Given the description of an element on the screen output the (x, y) to click on. 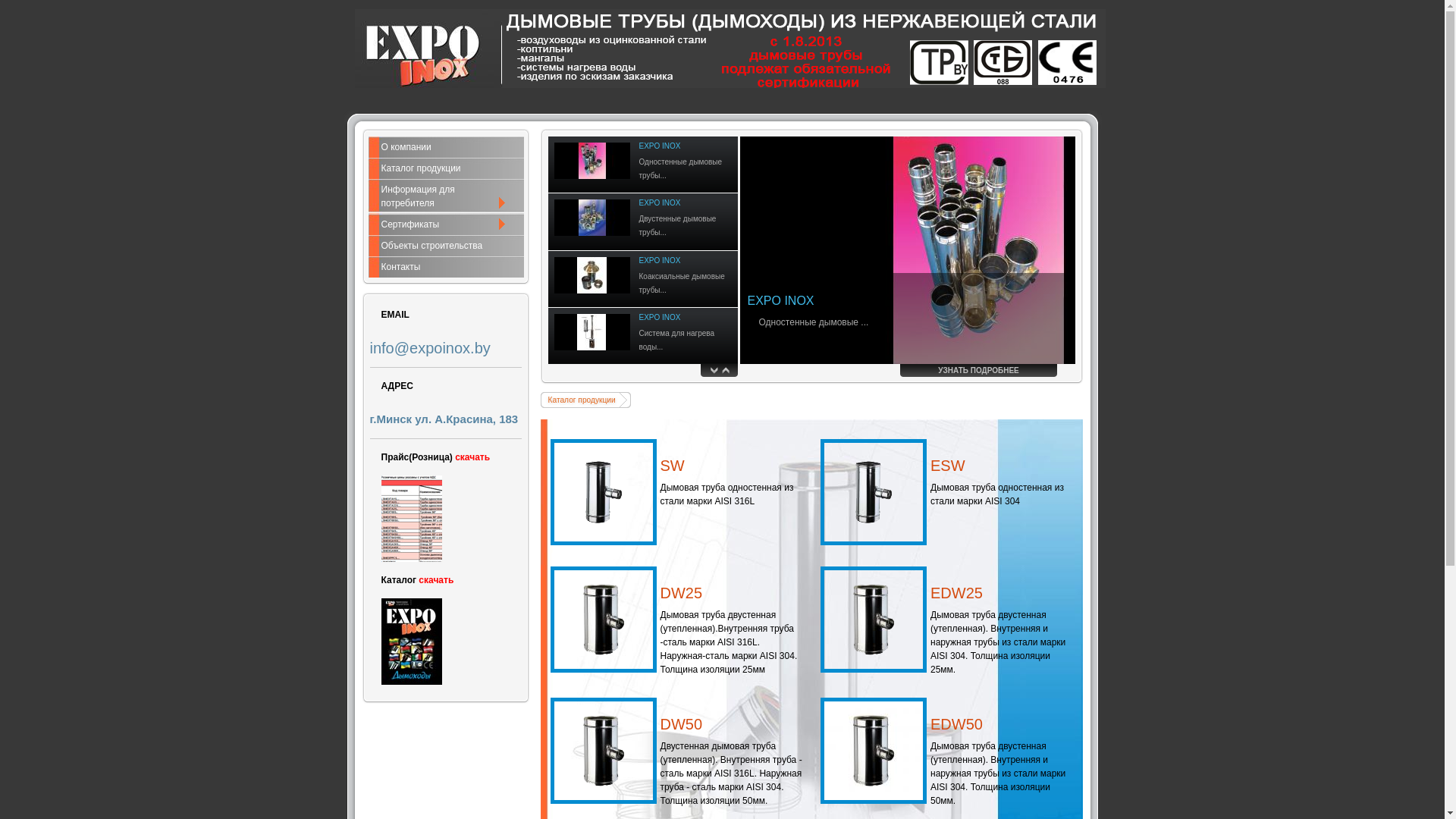
DW25 Element type: hover (603, 619)
DW25 Element type: text (680, 592)
EXPO INOX Element type: text (780, 300)
EDW25 Element type: text (956, 592)
DW50 Element type: hover (603, 750)
ESW Element type: hover (873, 492)
DW50 Element type: text (680, 723)
SW Element type: hover (603, 492)
SW Element type: text (671, 465)
EDW25 Element type: hover (873, 619)
EDW50 Element type: text (956, 723)
ESW Element type: text (947, 465)
EDW50 Element type: hover (873, 750)
